Given the description of an element on the screen output the (x, y) to click on. 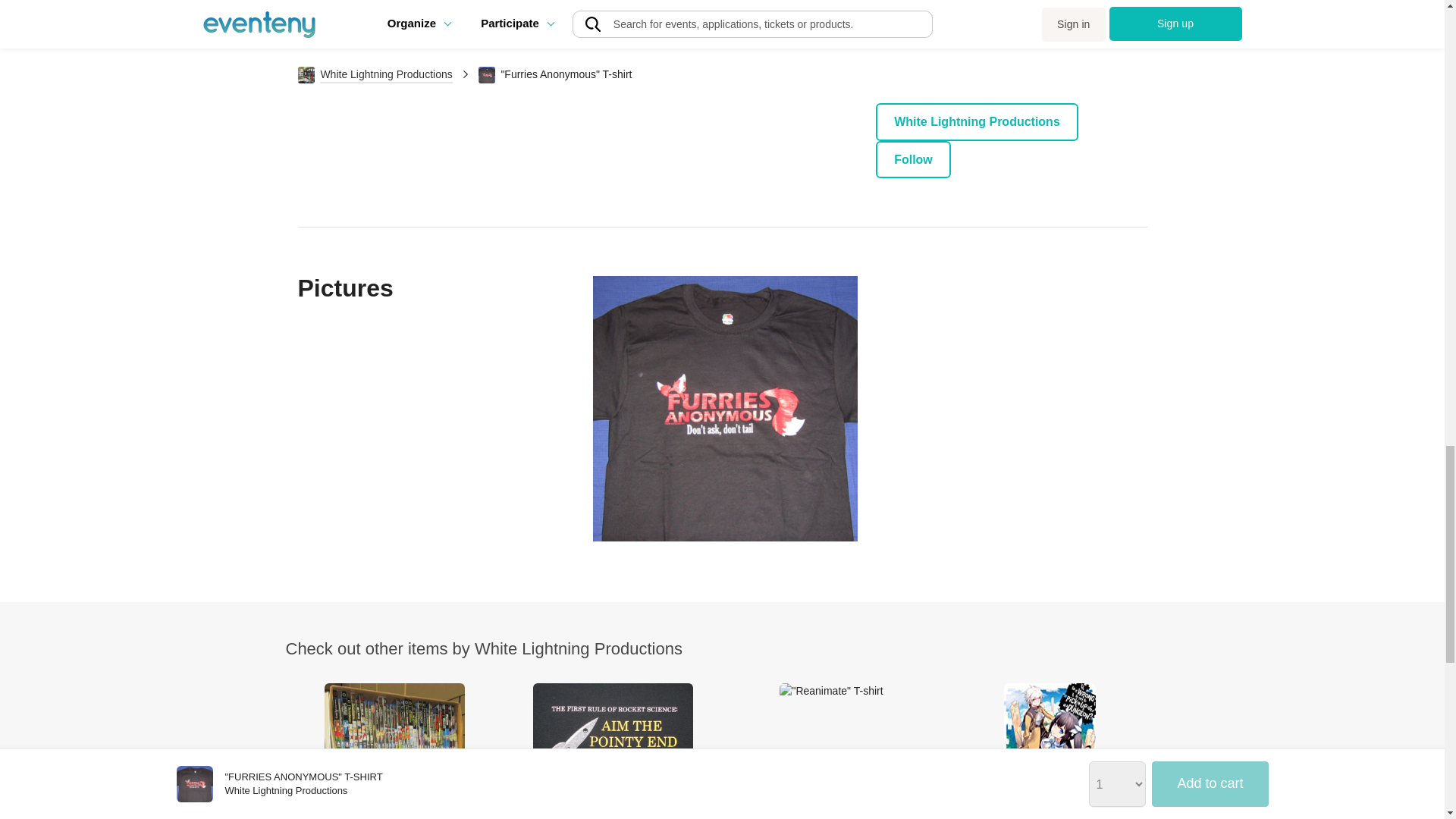
View or purchase "Reanimate" T-shirt (831, 751)
View or purchase "First Rule" T-shirt (612, 751)
Follow White Lightning Productions (913, 159)
View or purchase Studio Ghibli DVDs (394, 751)
White Lightning Productions (977, 121)
